Given the description of an element on the screen output the (x, y) to click on. 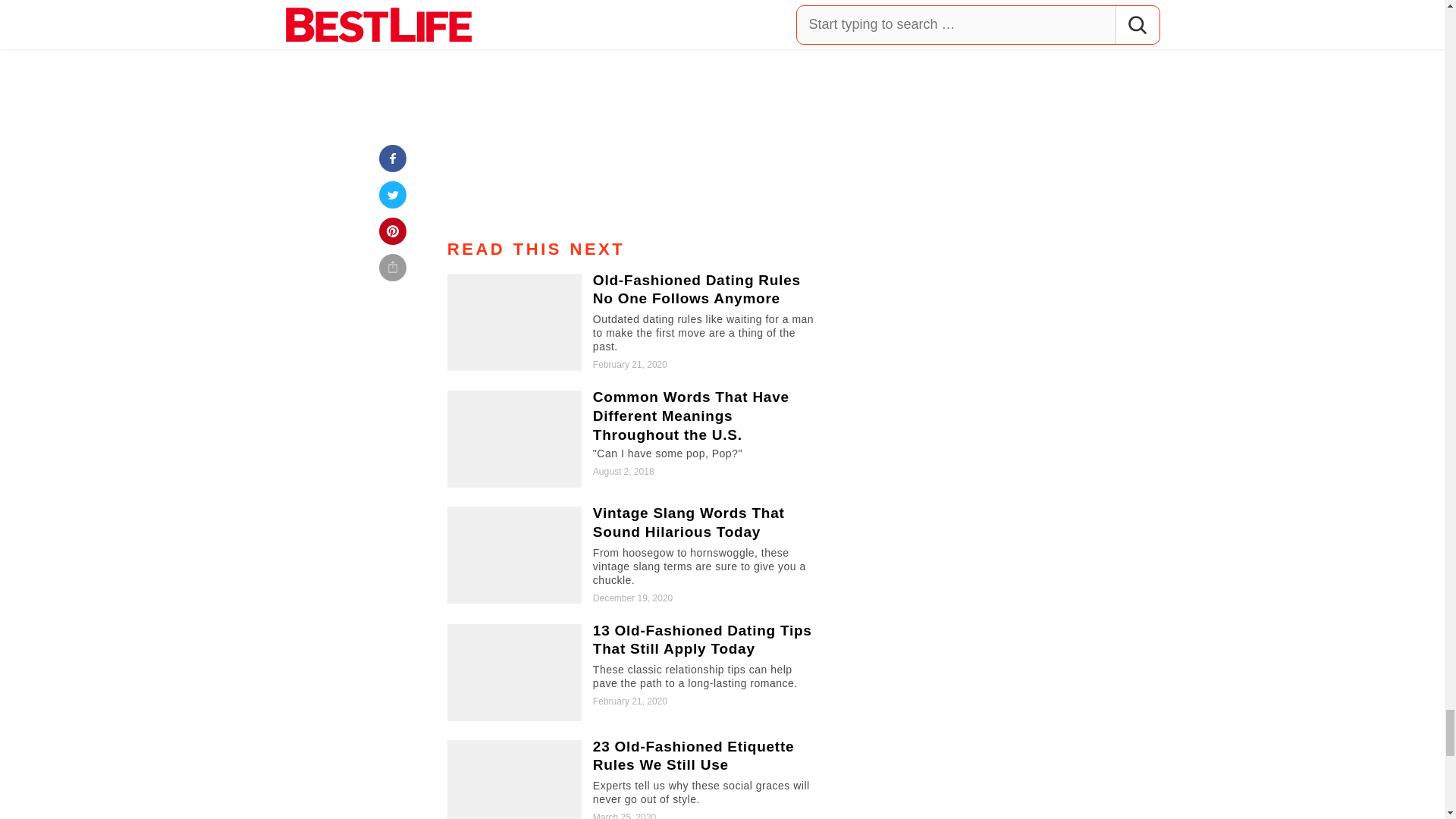
13 Old-Fashioned Dating Tips That Still Apply Today (635, 672)
23 Old-Fashioned Etiquette Rules We Still Use (635, 779)
Vintage Slang Words That Sound Hilarious Today (635, 555)
Old-Fashioned Dating Rules No One Follows Anymore (635, 322)
